Given the description of an element on the screen output the (x, y) to click on. 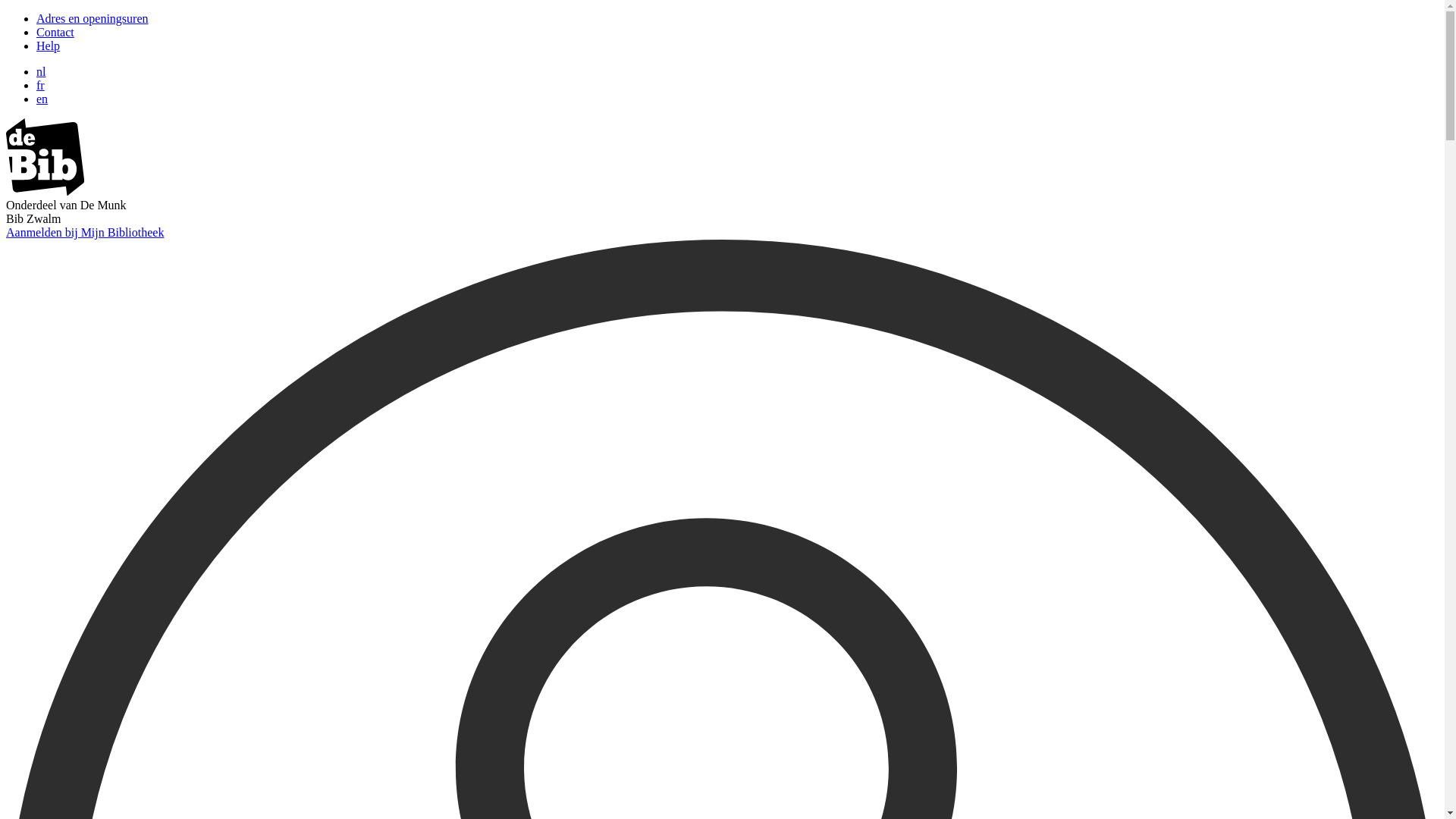
Aanmelden bij Mijn Bibliotheek Element type: text (84, 231)
Overslaan en naar zoeken gaan Element type: text (6, 12)
en Element type: text (41, 98)
Help Element type: text (47, 45)
fr Element type: text (40, 84)
image/svg+xml Element type: text (45, 191)
nl Element type: text (40, 71)
Contact Element type: text (55, 31)
Adres en openingsuren Element type: text (92, 18)
